Given the description of an element on the screen output the (x, y) to click on. 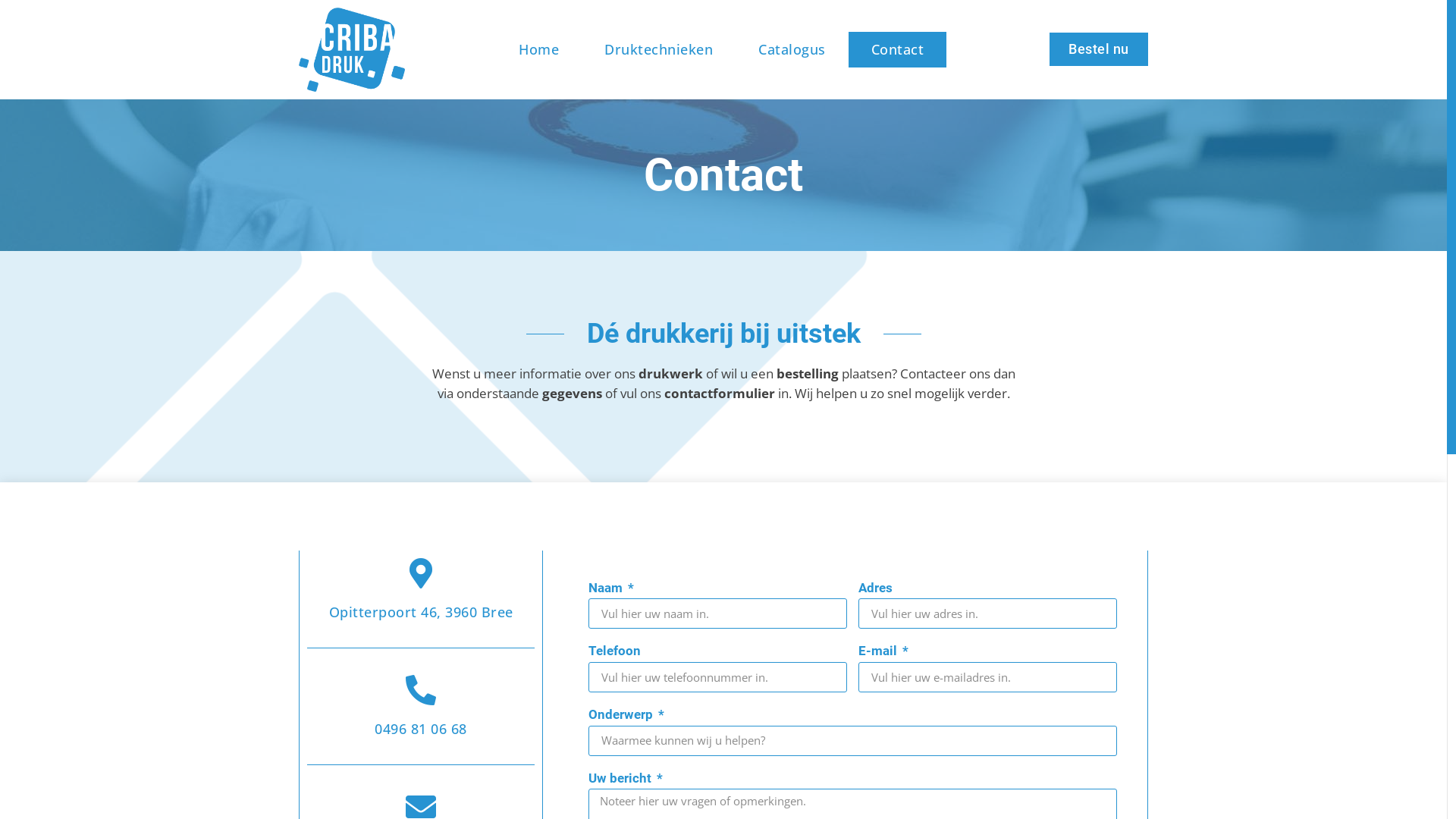
0496 81 06 68 Element type: text (420, 728)
Opitterpoort 46, 3960 Bree Element type: text (421, 611)
Home Element type: text (538, 49)
Catalogus Element type: text (791, 49)
Contact Element type: text (897, 49)
Bestel nu Element type: text (1098, 48)
Druktechnieken Element type: text (658, 49)
